Given the description of an element on the screen output the (x, y) to click on. 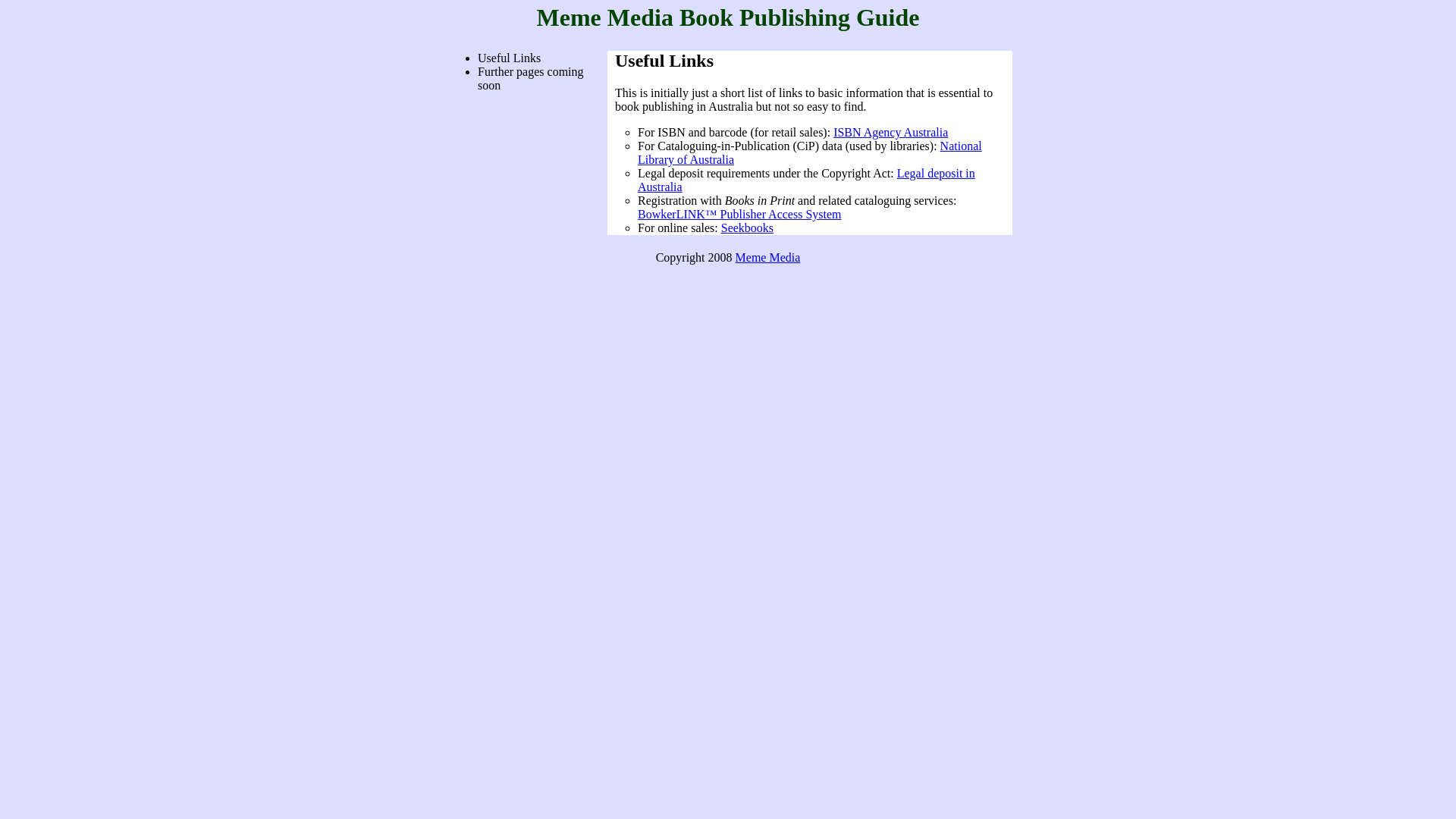
Meme Media Element type: text (767, 257)
ISBN Agency Australia Element type: text (890, 131)
Seekbooks Element type: text (747, 227)
Legal deposit in Australia Element type: text (806, 179)
National Library of Australia Element type: text (809, 152)
